Given the description of an element on the screen output the (x, y) to click on. 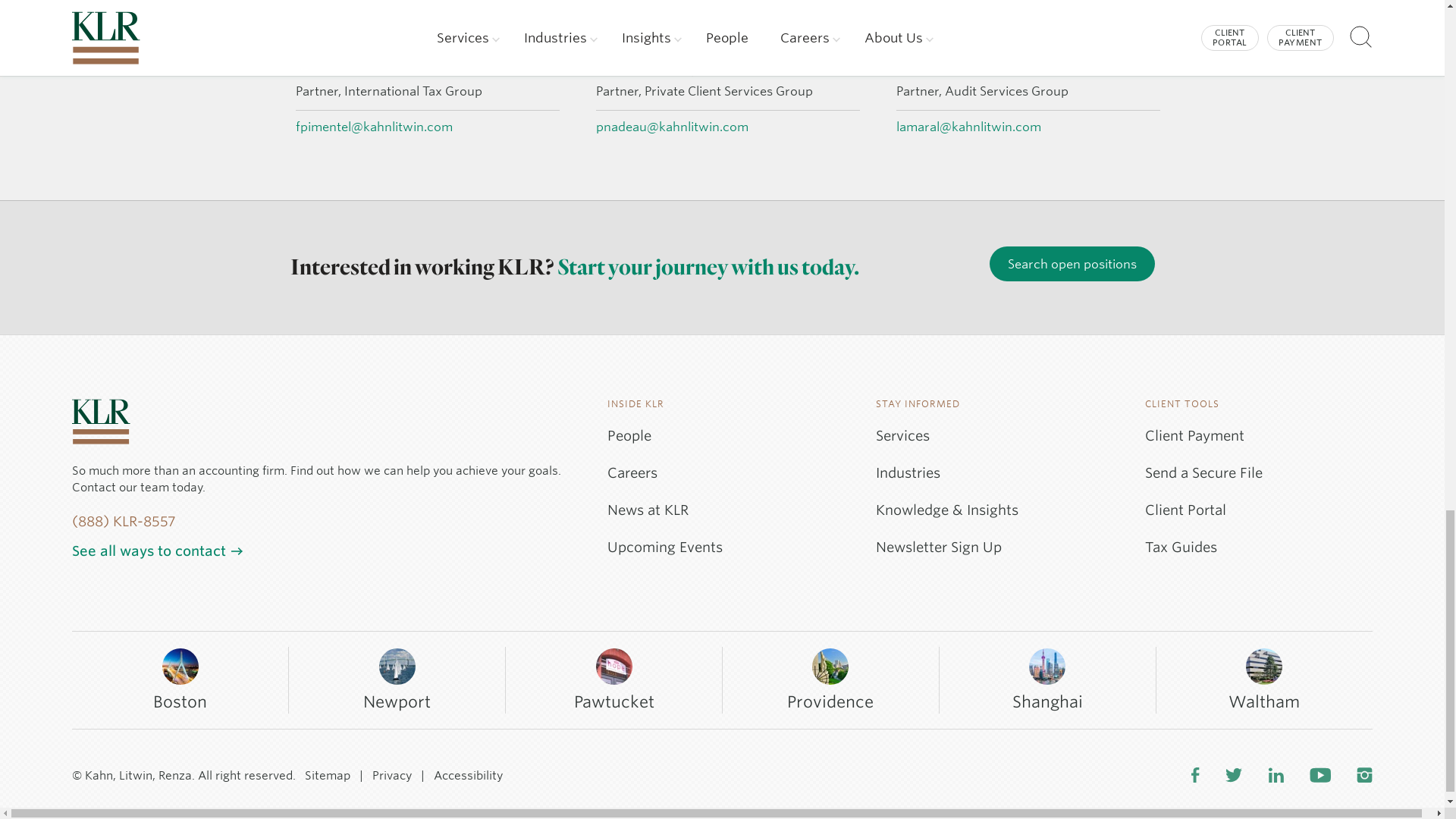
eye (551, 69)
eye (1152, 69)
eye (852, 69)
